Given the description of an element on the screen output the (x, y) to click on. 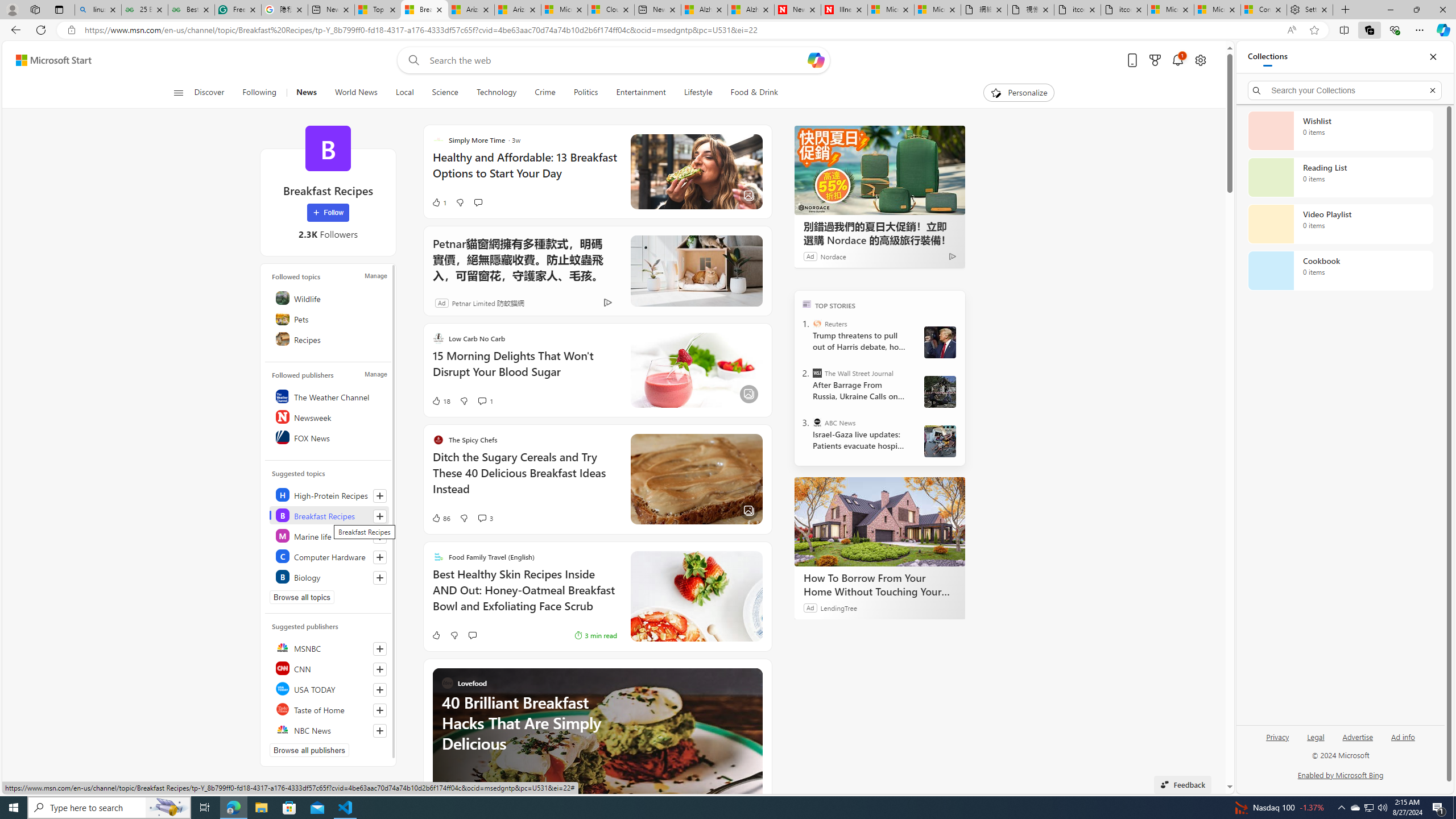
Open navigation menu (177, 92)
Top Stories - MSN (377, 9)
